Given the description of an element on the screen output the (x, y) to click on. 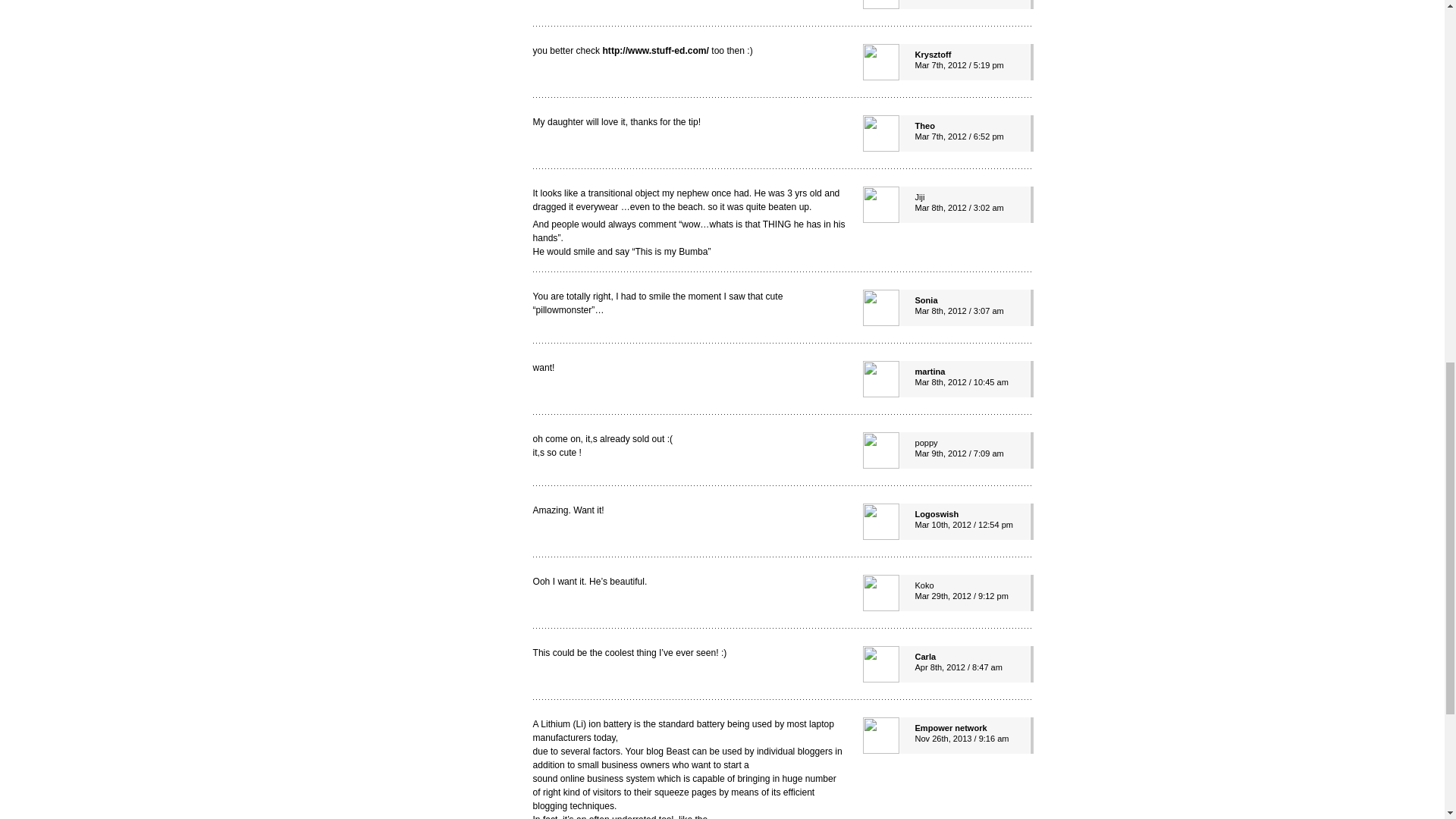
Theo (924, 125)
Empower network (950, 727)
Carla (925, 655)
Sonia (925, 299)
Krysztoff (932, 53)
Logoswish (936, 513)
martina (929, 370)
